Given the description of an element on the screen output the (x, y) to click on. 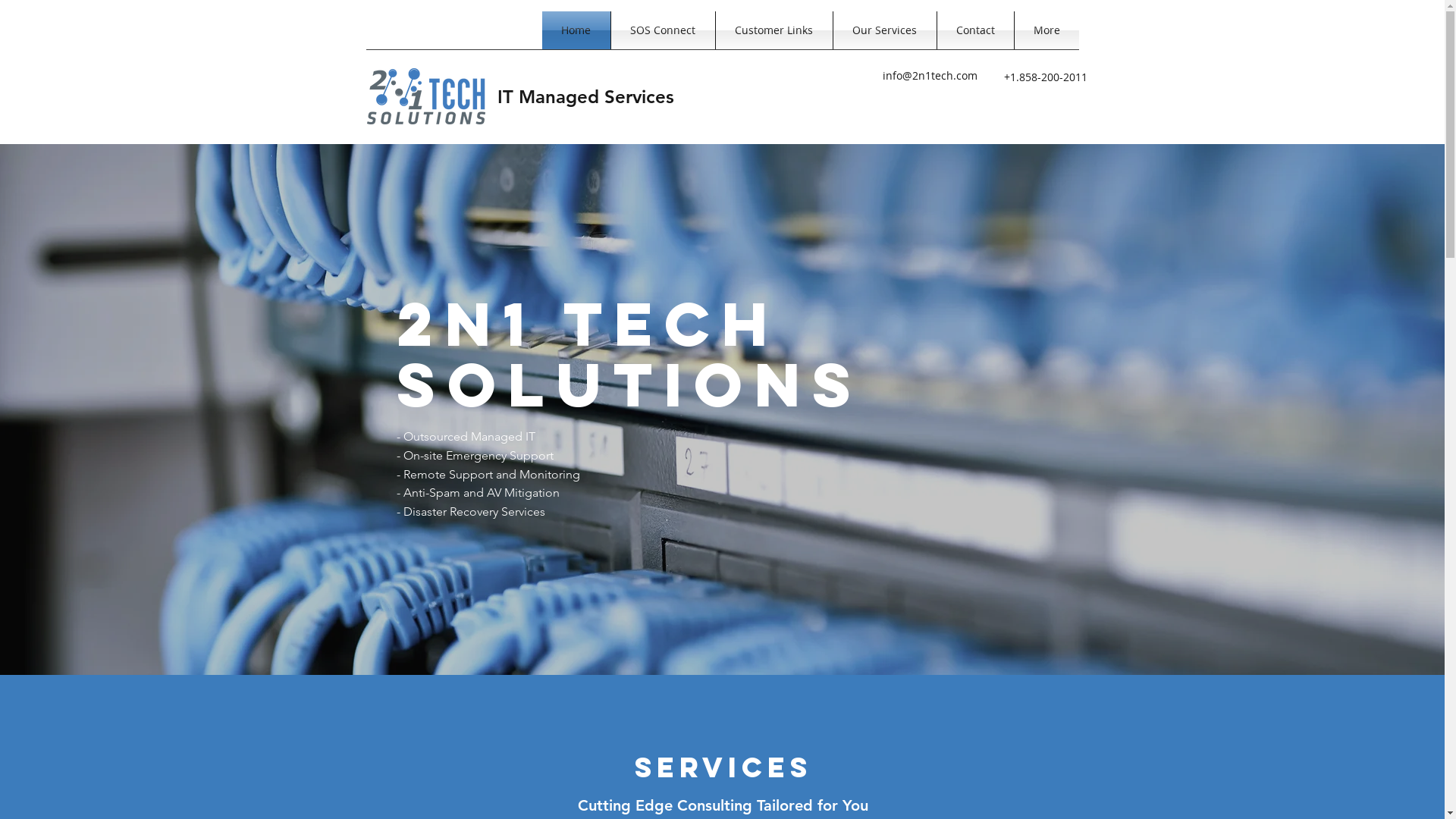
Contact Element type: text (975, 30)
Home Element type: text (575, 30)
info@2n1tech.com Element type: text (929, 75)
Our Services Element type: text (883, 30)
SOS Connect Element type: text (663, 30)
